Given the description of an element on the screen output the (x, y) to click on. 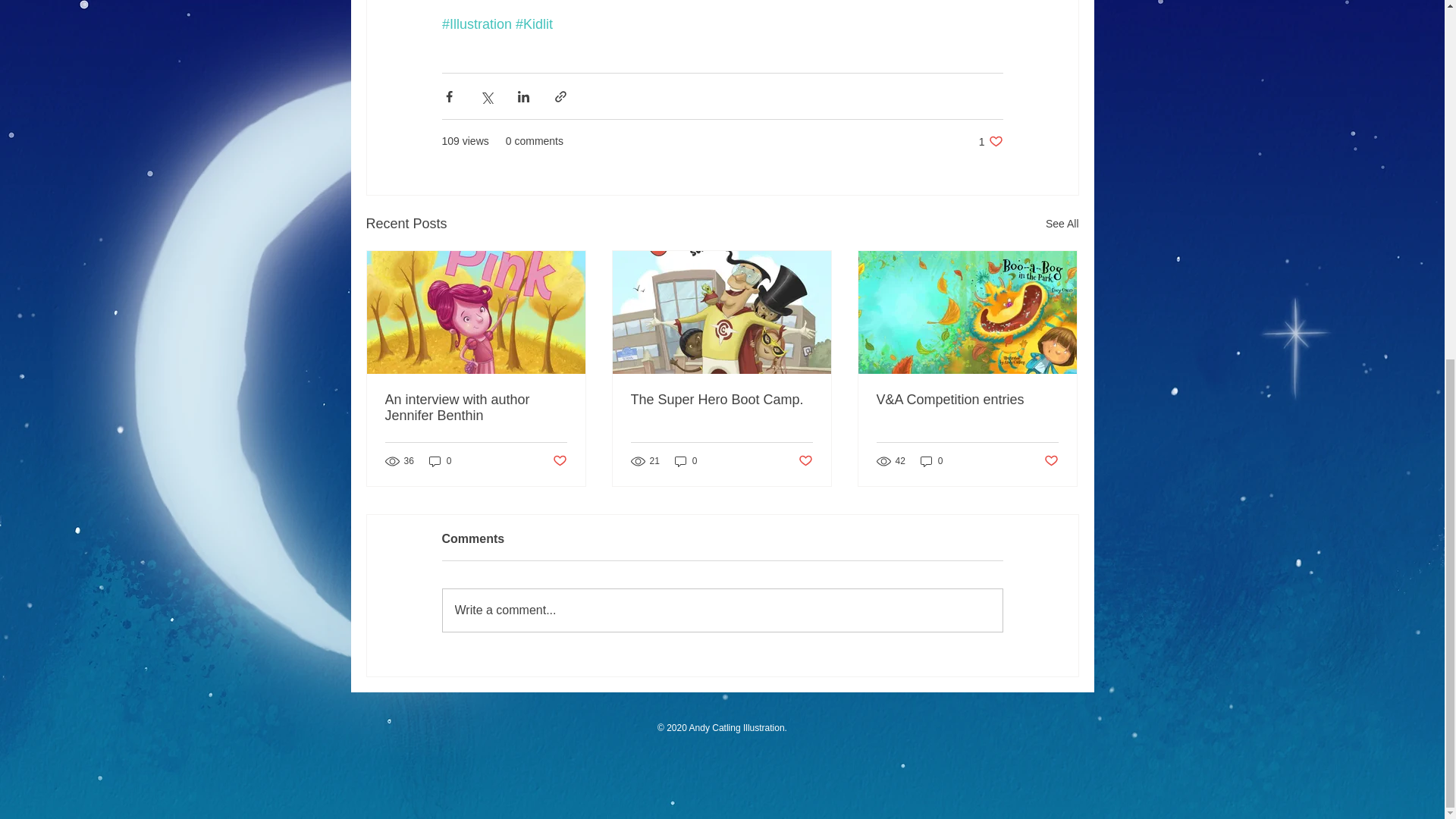
Post not marked as liked (804, 460)
See All (1061, 223)
0 (685, 461)
Post not marked as liked (1050, 460)
Write a comment... (990, 141)
An interview with author Jennifer Benthin (722, 609)
Post not marked as liked (476, 408)
0 (558, 460)
The Super Hero Boot Camp. (931, 461)
0 (721, 399)
